Given the description of an element on the screen output the (x, y) to click on. 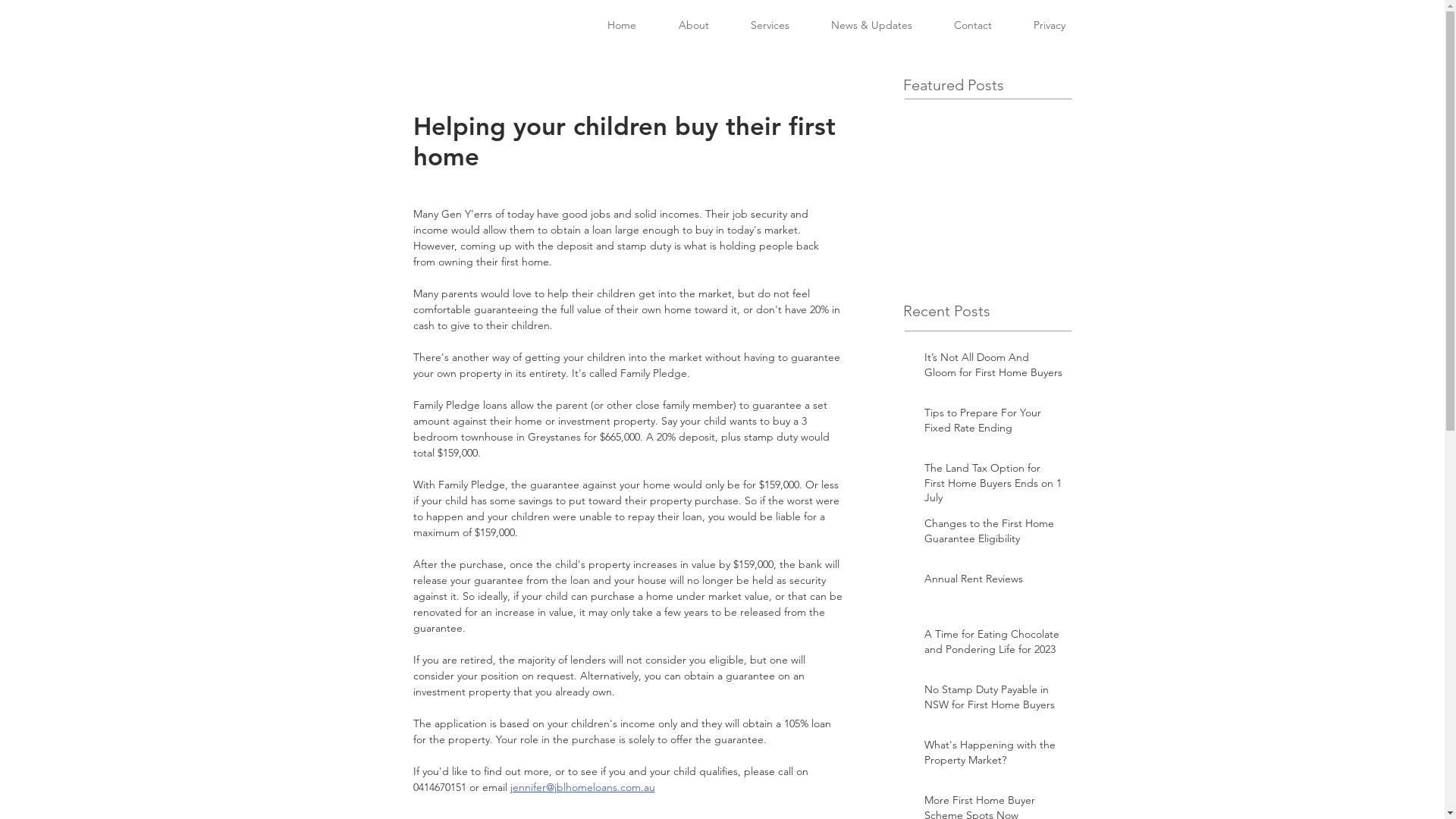
Annual Rent Reviews Element type: text (992, 582)
Home Element type: text (620, 25)
Services Element type: text (769, 25)
What's Happening with the Property Market? Element type: text (992, 755)
Changes to the First Home Guarantee Eligibility Element type: text (992, 534)
A Time for Eating Chocolate and Pondering Life for 2023 Element type: text (992, 644)
Tips to Prepare For Your Fixed Rate Ending Element type: text (992, 423)
Privacy Element type: text (1049, 25)
No Stamp Duty Payable in NSW for First Home Buyers Element type: text (992, 700)
Contact Element type: text (972, 25)
The Land Tax Option for First Home Buyers Ends on 1 July Element type: text (992, 486)
About Element type: text (692, 25)
jennifer@jblhomeloans.com.au Element type: text (581, 786)
News & Updates Element type: text (870, 25)
